Given the description of an element on the screen output the (x, y) to click on. 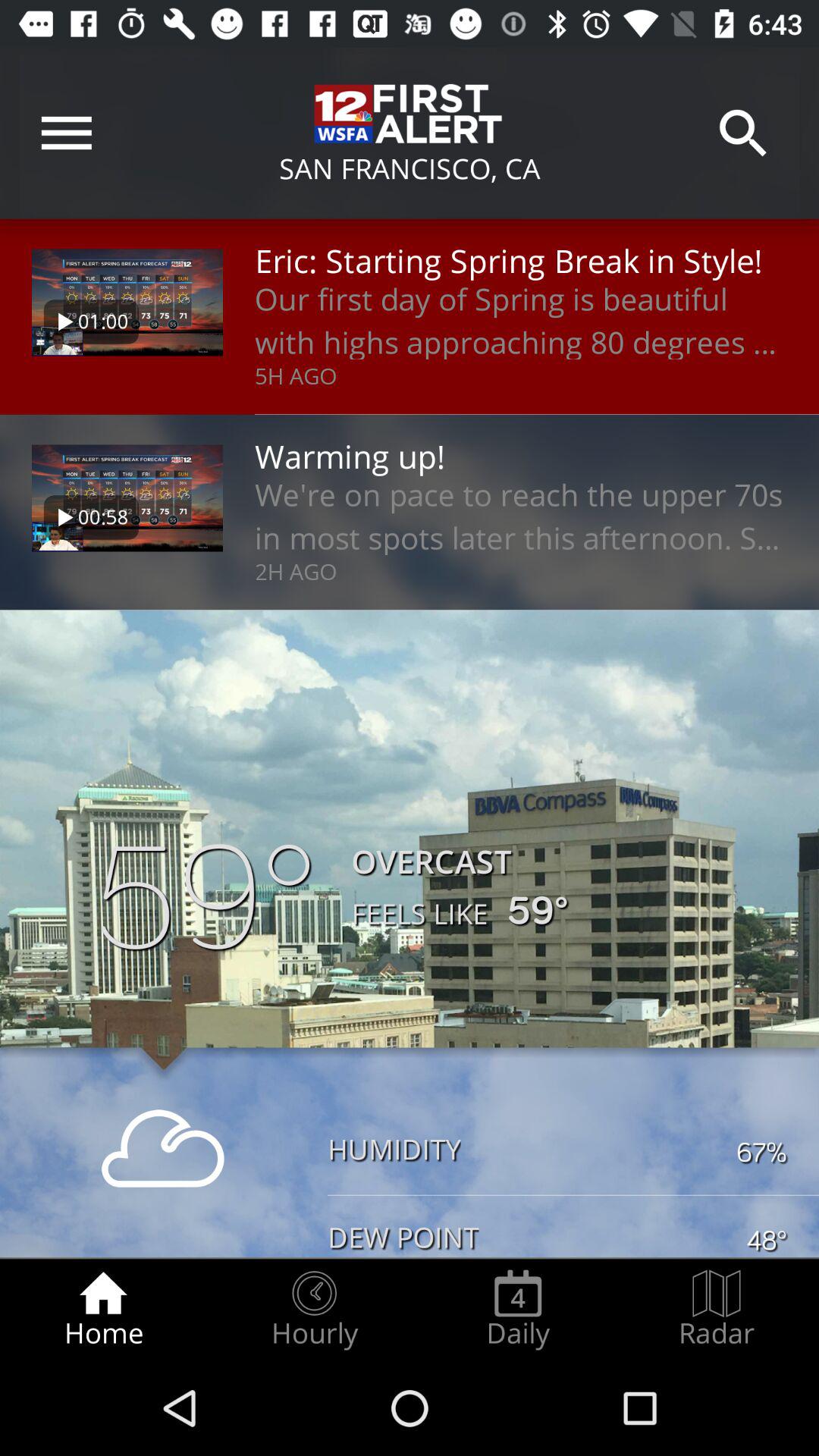
swipe to home item (103, 1309)
